Given the description of an element on the screen output the (x, y) to click on. 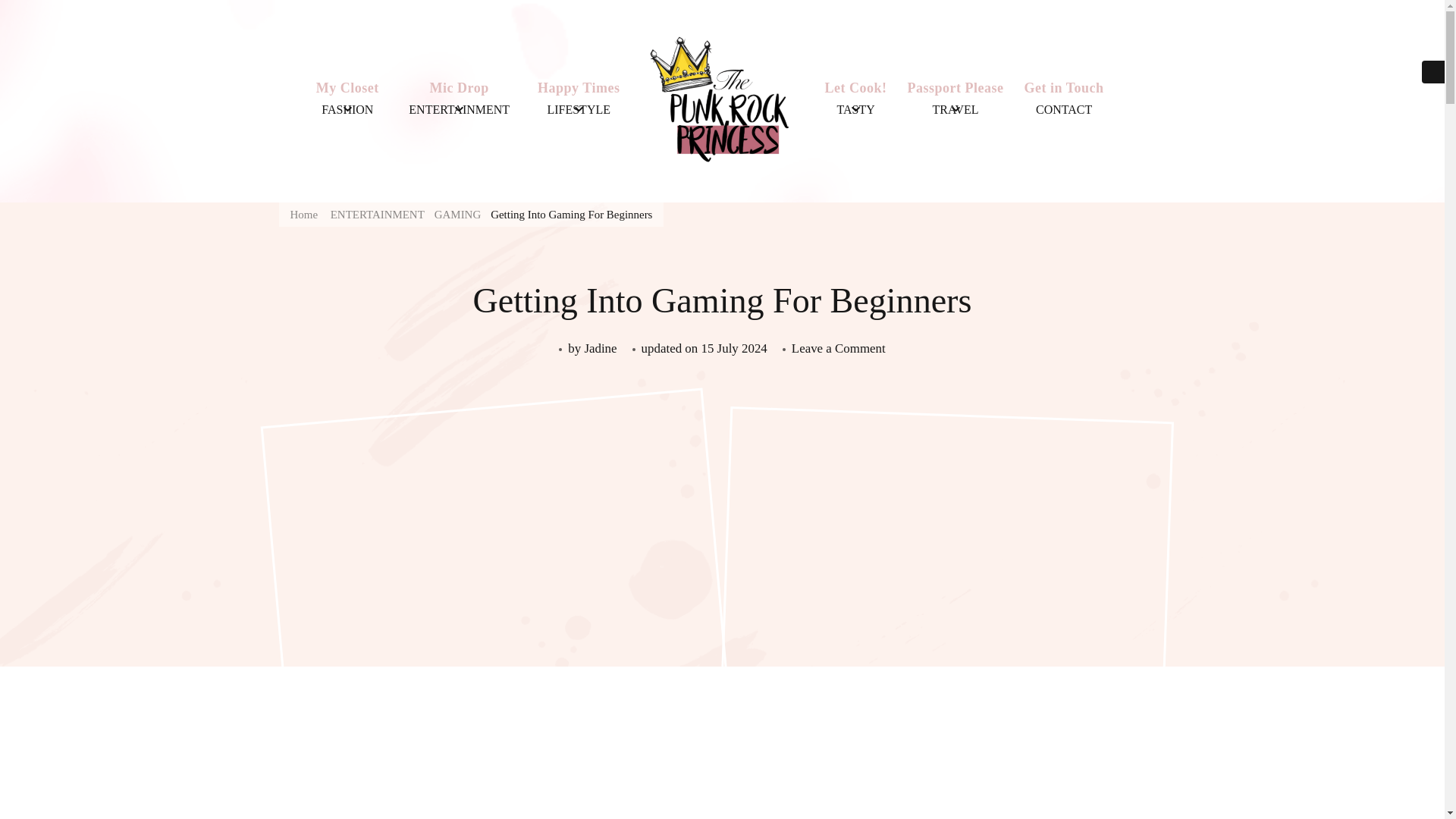
FASHION (347, 109)
TASTY (855, 109)
ENTERTAINMENT (458, 109)
CONTACT (1063, 109)
TRAVEL (955, 109)
The Punk Rock Princess (959, 218)
LIFESTYLE (577, 109)
